Given the description of an element on the screen output the (x, y) to click on. 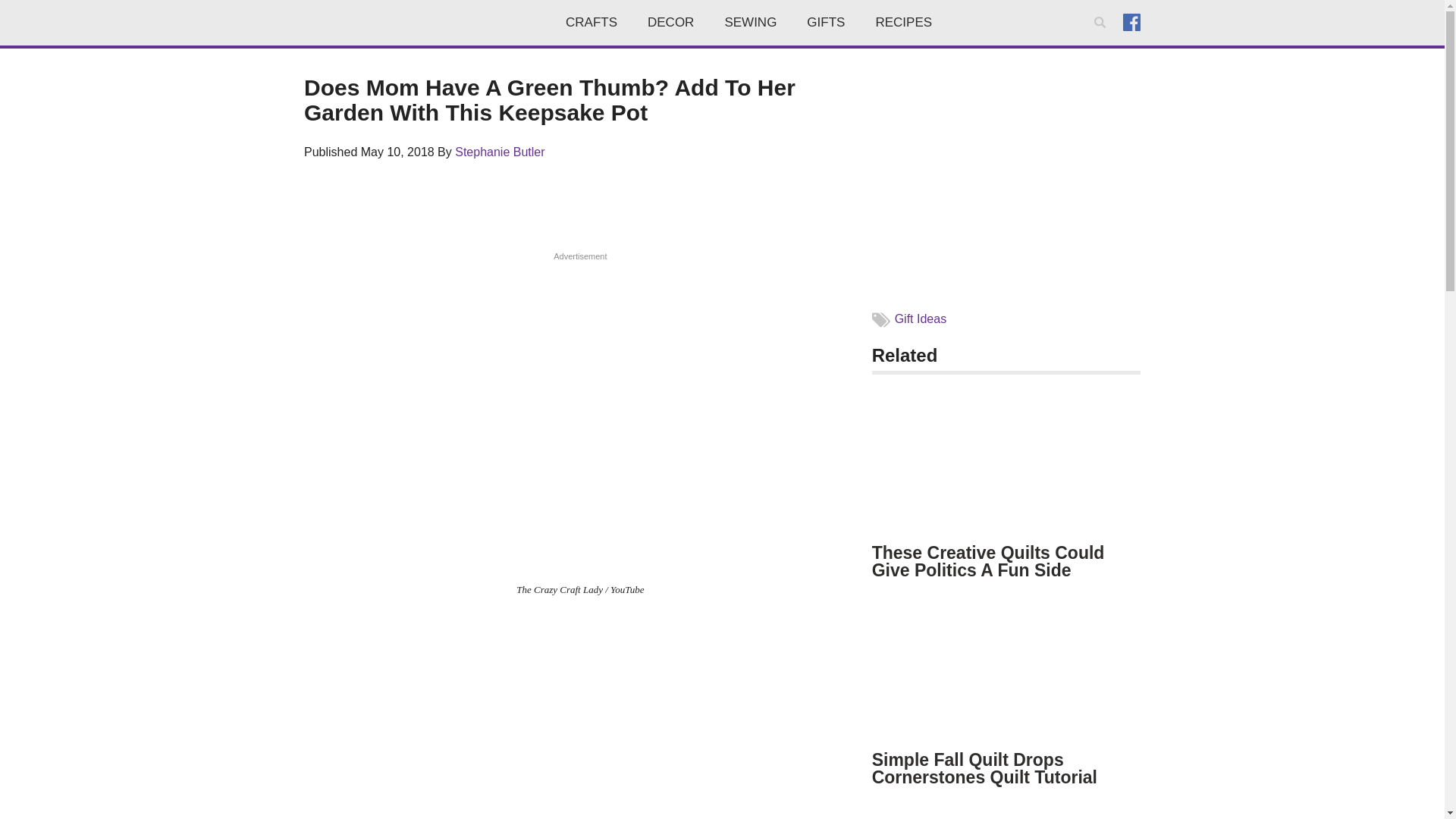
CRAFTS (590, 22)
Search (1102, 42)
DECOR (670, 22)
GIFTS (826, 22)
These Creative Quilts Could Give Politics A Fun Side (988, 560)
Search (1102, 42)
SEWING (750, 22)
RECIPES (903, 22)
Stephanie Butler (499, 151)
DIY Ways on Facebook (1131, 21)
